Given the description of an element on the screen output the (x, y) to click on. 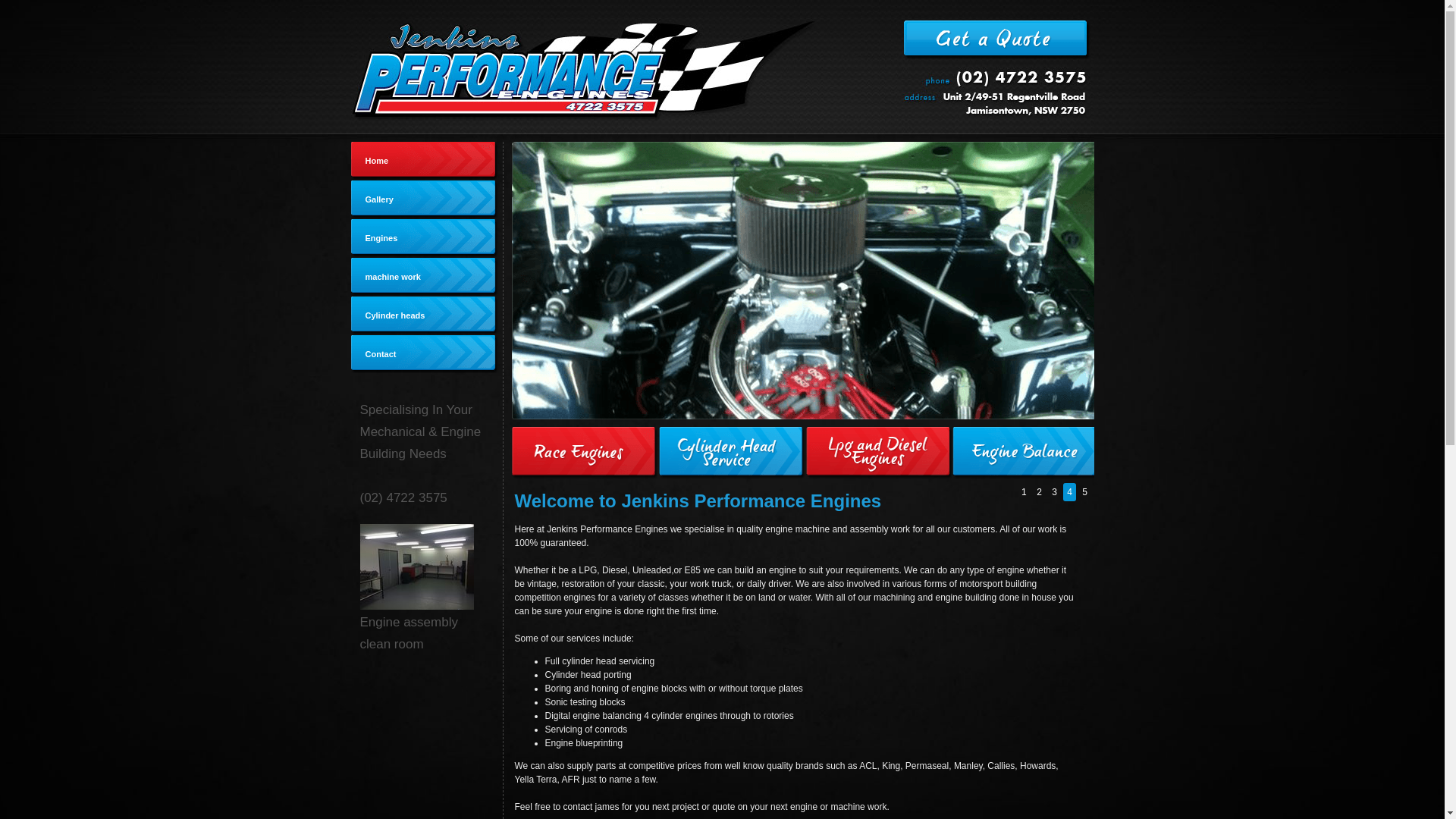
1 Element type: text (1023, 492)
Contact Element type: text (424, 354)
Engines Element type: text (424, 238)
2 Element type: text (1038, 492)
3 Element type: text (1054, 492)
machine work Element type: text (424, 276)
5 Element type: text (1084, 492)
Home Element type: text (424, 160)
4 Element type: text (1069, 492)
Gallery Element type: text (424, 199)
Cylinder heads Element type: text (424, 315)
